Given the description of an element on the screen output the (x, y) to click on. 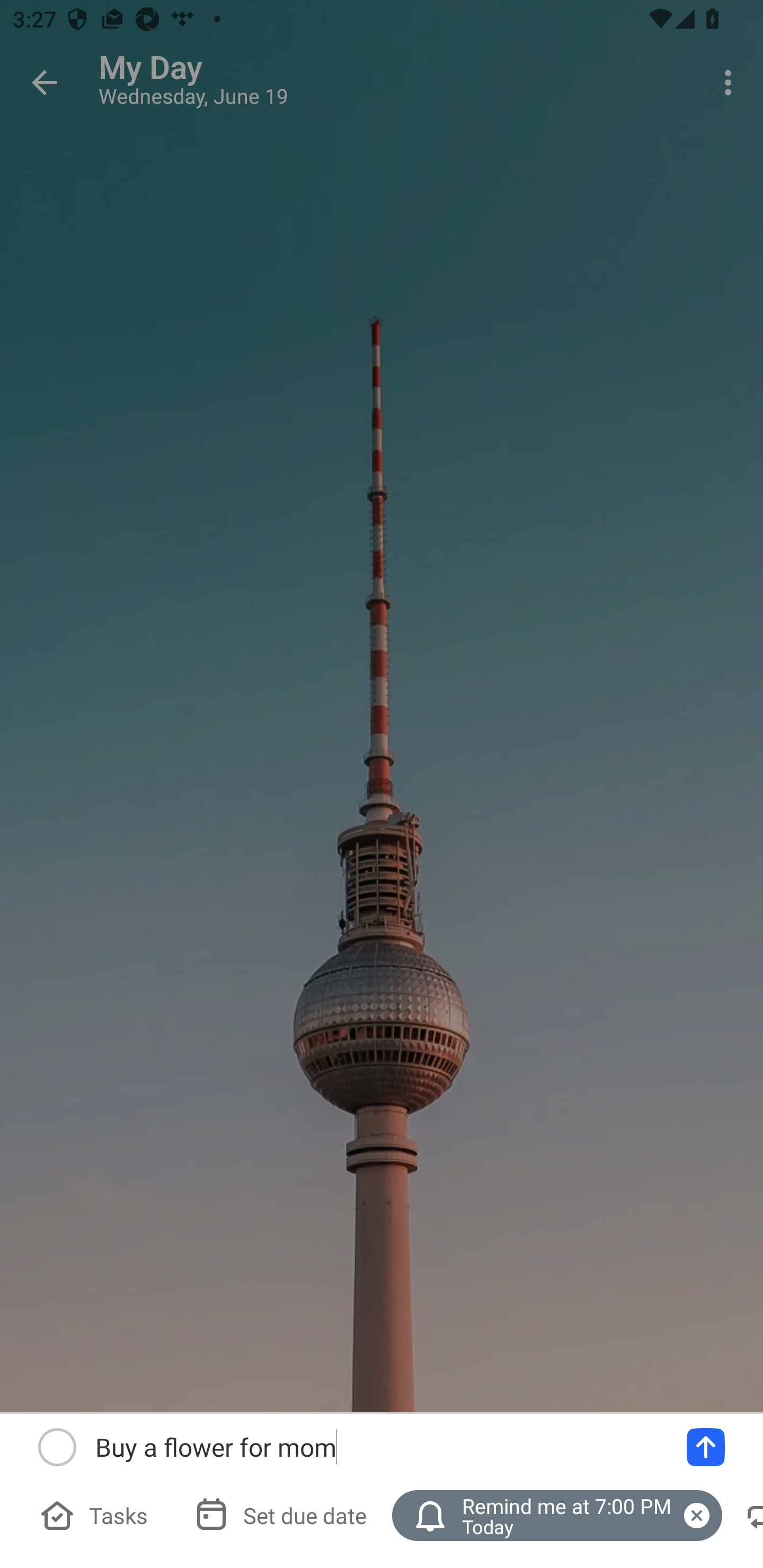
Add a task (705, 1446)
